Given the description of an element on the screen output the (x, y) to click on. 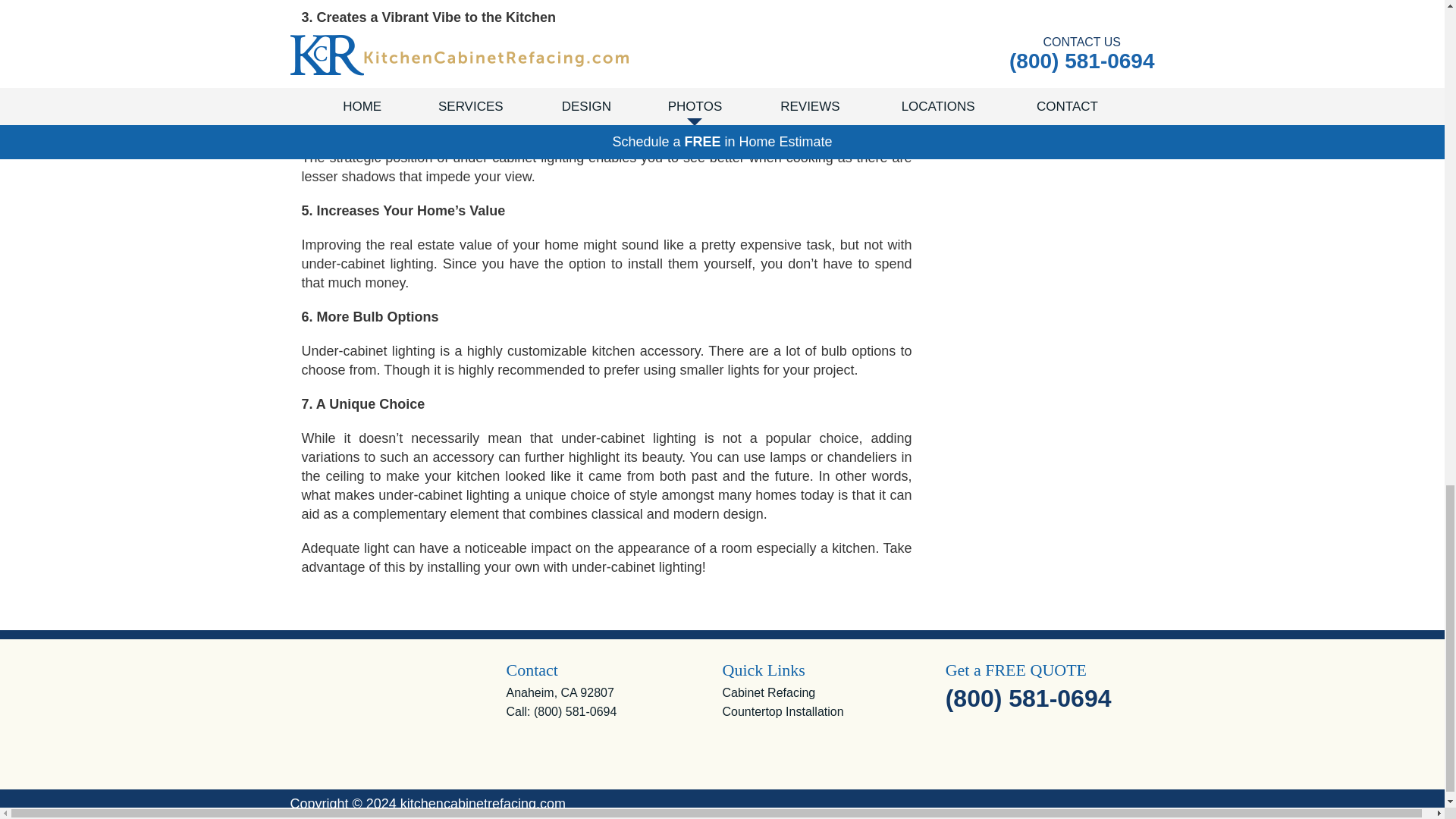
Countertop Installation (782, 711)
Cabinet Refacing (768, 692)
